Given the description of an element on the screen output the (x, y) to click on. 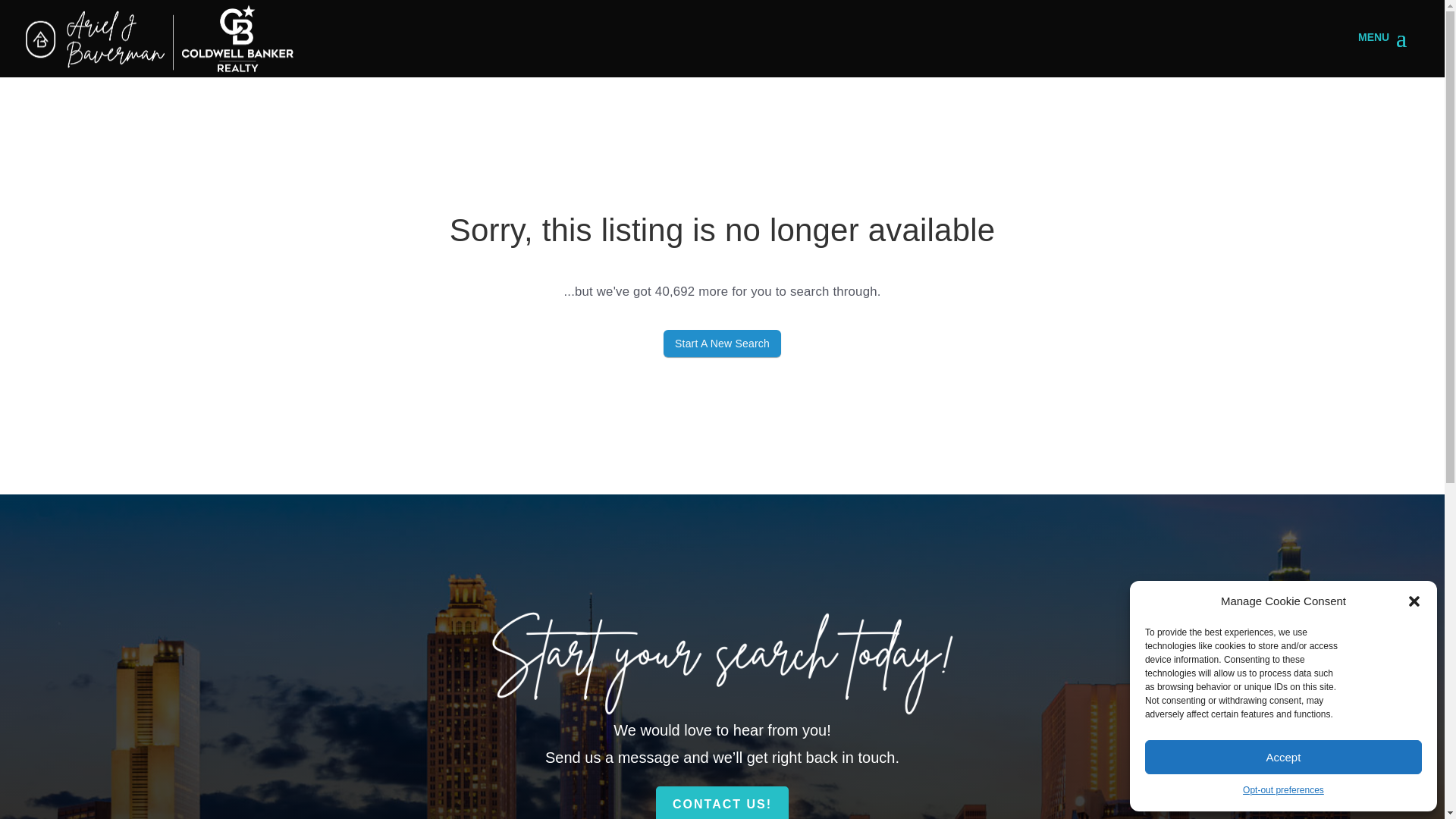
Opt-out preferences (1283, 791)
Accept (1283, 756)
